Given the description of an element on the screen output the (x, y) to click on. 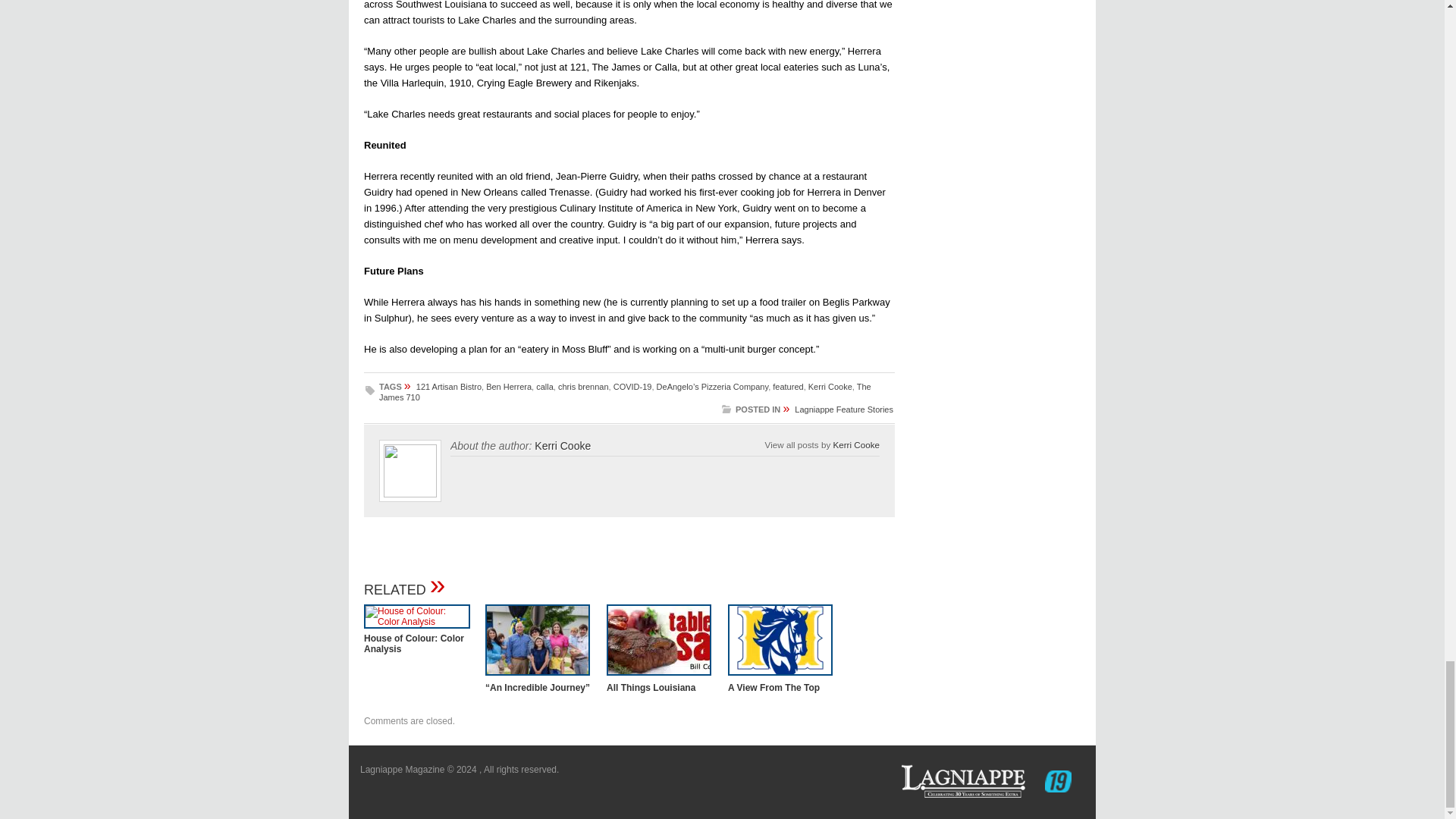
All Things Louisiana (659, 676)
House of Colour: Color Analysis (417, 621)
All Things Louisiana (651, 687)
Posts by Kerri Cooke (855, 444)
House of Colour: Color Analysis (414, 643)
A View From The Top (780, 676)
A View From The Top (773, 687)
